Given the description of an element on the screen output the (x, y) to click on. 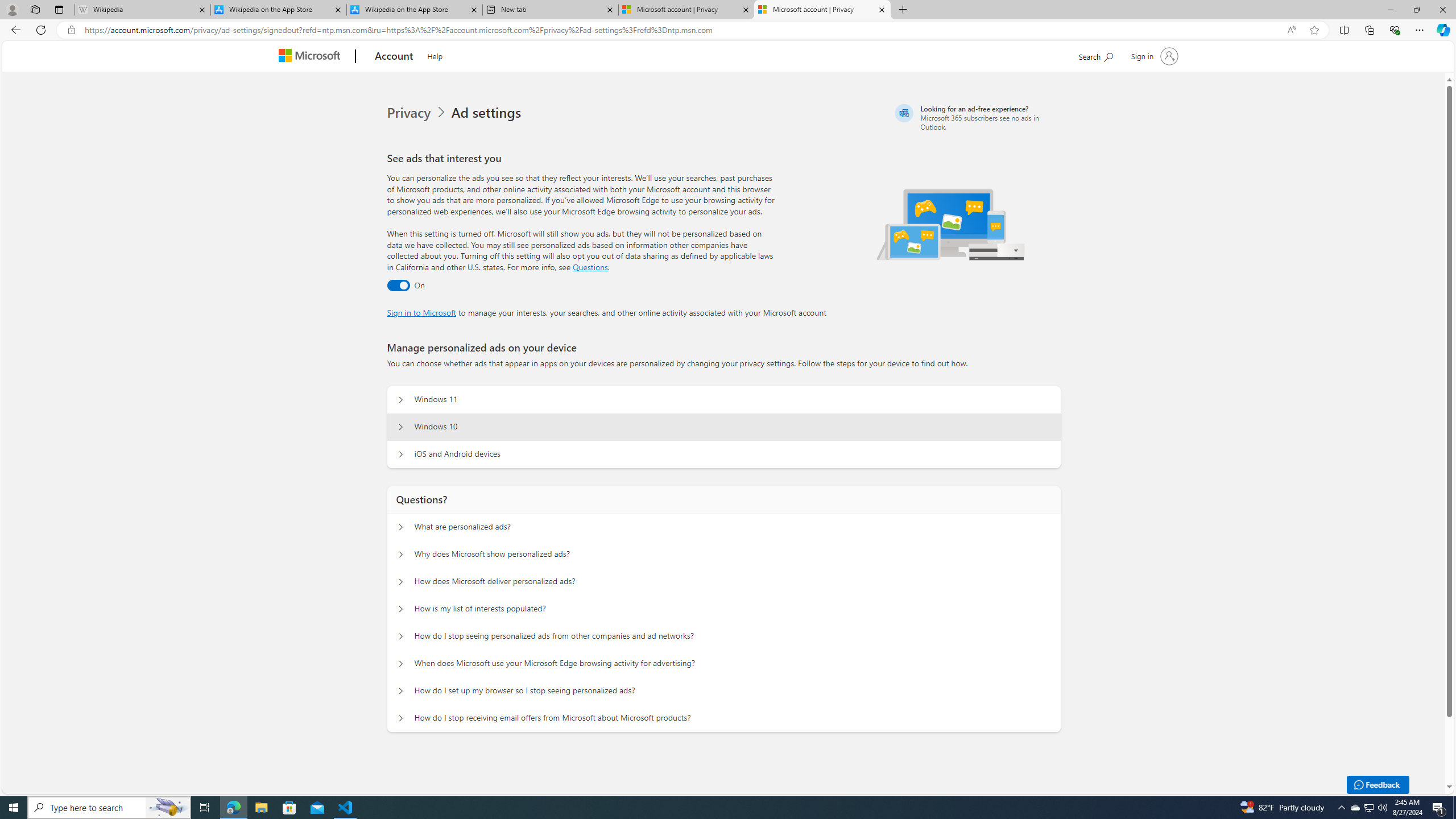
View site information (70, 29)
Restore (1416, 9)
Refresh (40, 29)
New Tab (903, 9)
Questions? What are personalized ads? (401, 526)
Go to Questions section (590, 266)
Sign in to your account (1153, 55)
Minimize (1390, 9)
Microsoft account | Privacy (822, 9)
Personal Profile (12, 9)
Looking for an ad-free experience? (976, 117)
Questions? Why does Microsoft show personalized ads? (401, 554)
